Given the description of an element on the screen output the (x, y) to click on. 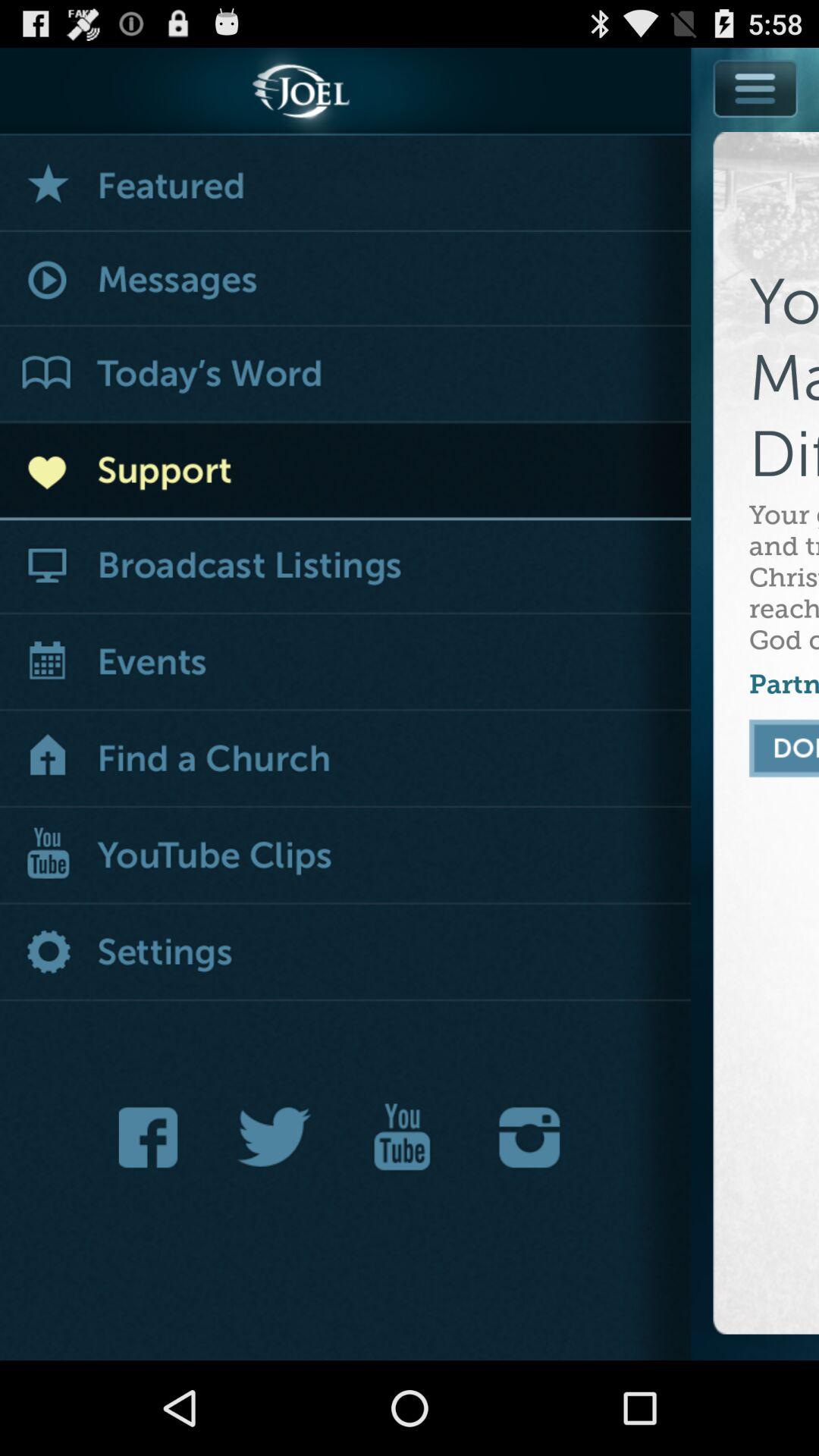
tap the item below the partner with us icon (784, 748)
